Given the description of an element on the screen output the (x, y) to click on. 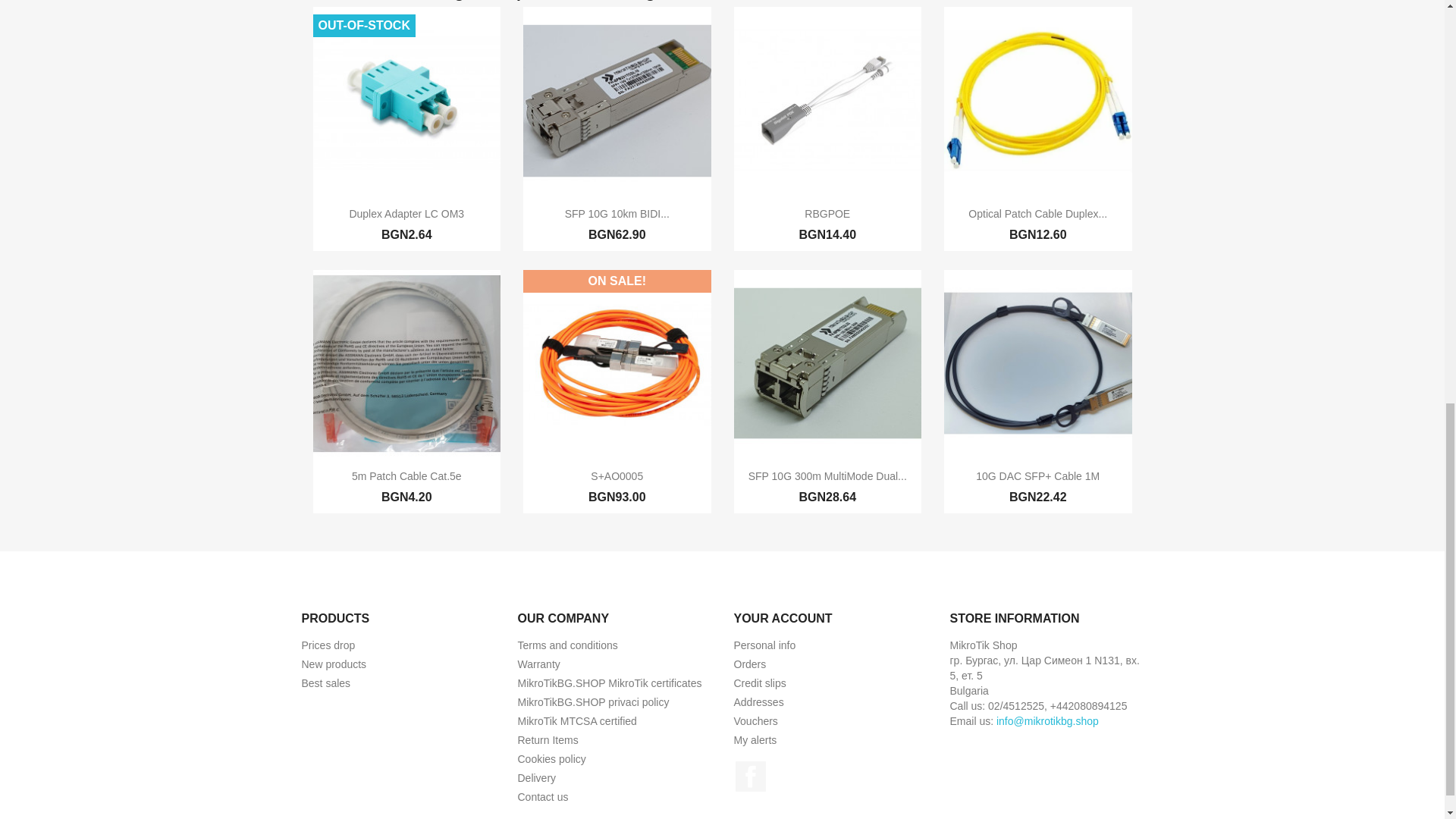
On-sale products (328, 645)
Warranty (537, 664)
Our terms and conditions of delivery (536, 777)
Personal info (764, 645)
Return Items (547, 739)
Duplex Adapter LC OM3 (406, 214)
Optical Patch Cable Duplex... (1037, 214)
MikroTikBG.SHOP certified egineering levelvs by MikroTik (608, 683)
Our new products (333, 664)
Use our form to contact us (541, 797)
RBGPOE (827, 214)
Our best sales (325, 683)
SFP 10G 10km BIDI... (616, 214)
Our terms and conditions of use (566, 645)
